Given the description of an element on the screen output the (x, y) to click on. 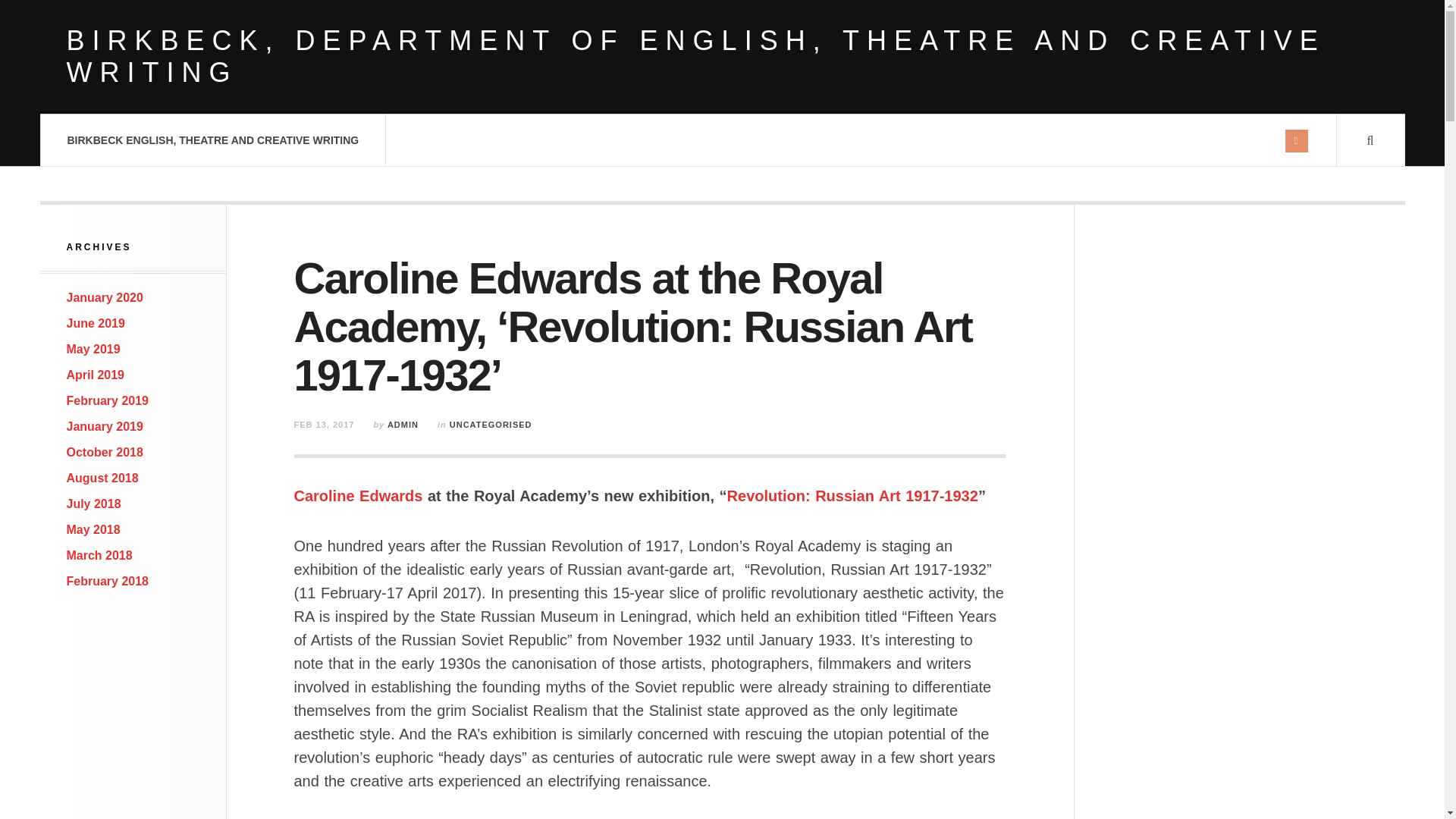
July 2018 (93, 503)
October 2018 (104, 451)
Revolution: Russian Art 1917-1932 (852, 495)
View all posts in Uncategorised (490, 424)
April 2019 (94, 374)
UNCATEGORISED (490, 424)
June 2019 (95, 323)
BIRKBECK ENGLISH, THEATRE AND CREATIVE WRITING (212, 140)
August 2018 (102, 477)
February 2019 (107, 400)
May 2018 (93, 529)
May 2019 (93, 349)
January 2019 (104, 426)
Caroline Edwards (358, 495)
